Given the description of an element on the screen output the (x, y) to click on. 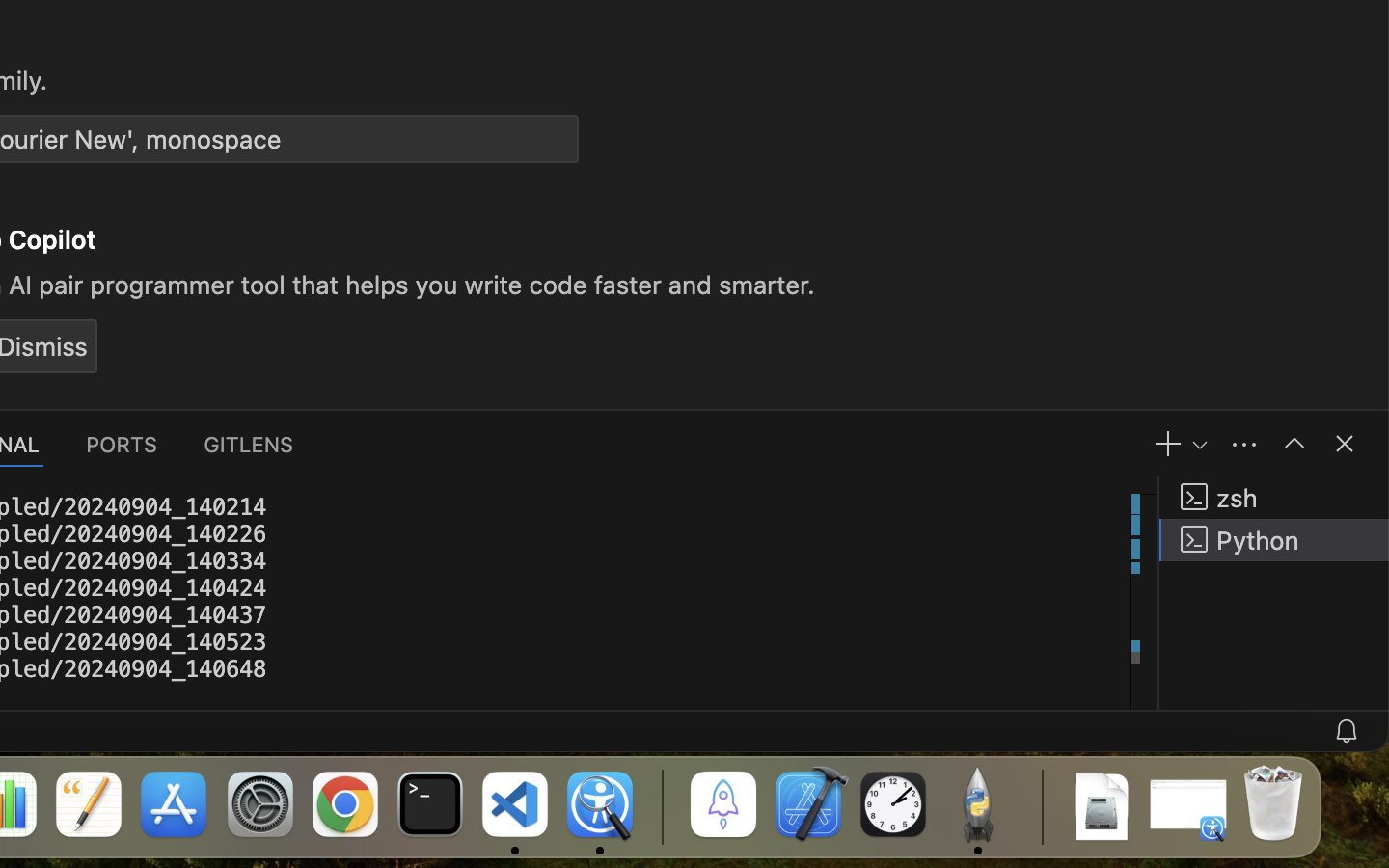
 Element type: AXCheckBox (1294, 443)
0 PORTS Element type: AXRadioButton (122, 443)
